Given the description of an element on the screen output the (x, y) to click on. 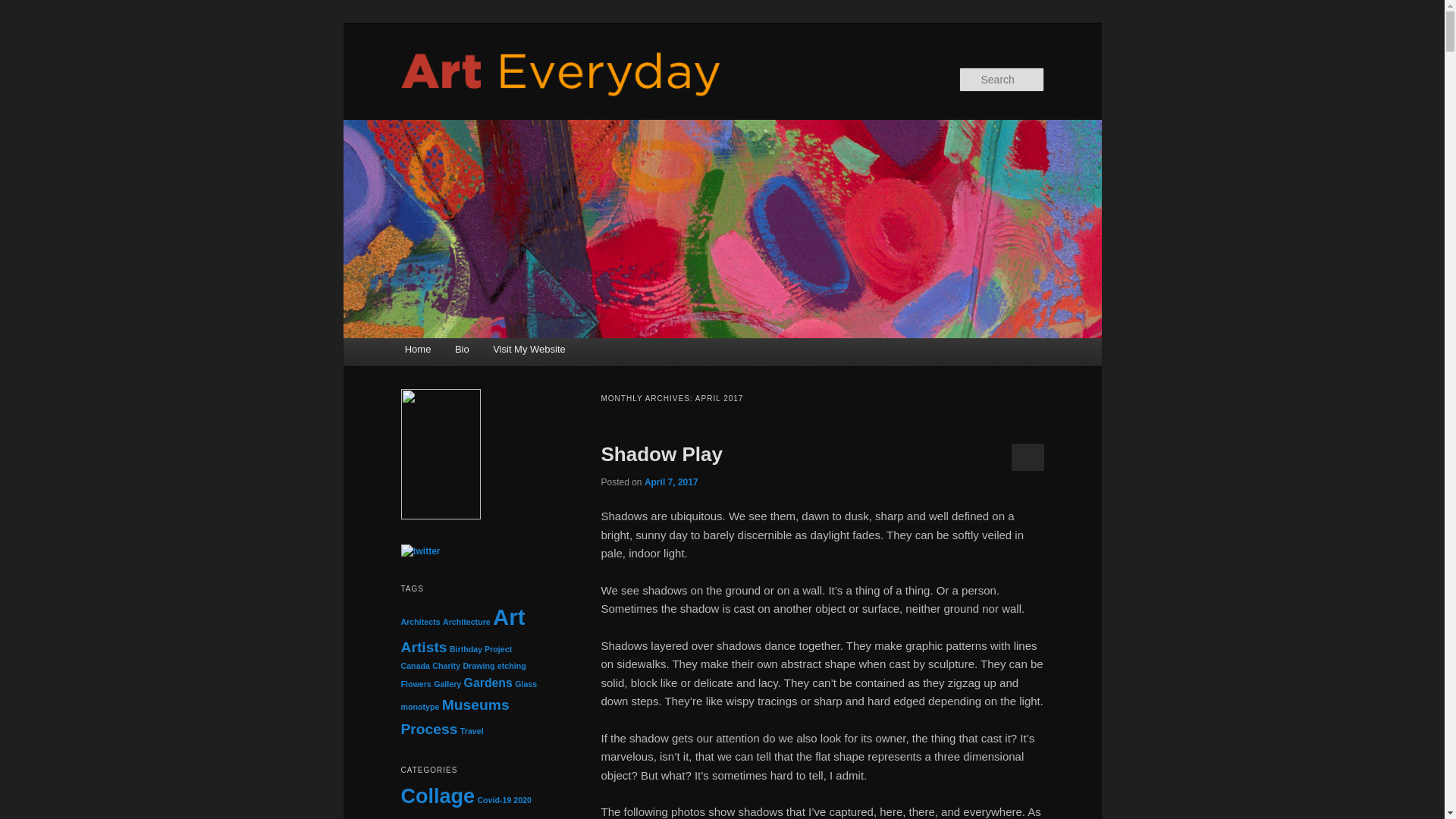
Visit My Website (528, 348)
Bio (461, 348)
Shadow Play (660, 454)
Home (417, 348)
April 7, 2017 (671, 481)
1:17 am (671, 481)
Search (24, 8)
